Given the description of an element on the screen output the (x, y) to click on. 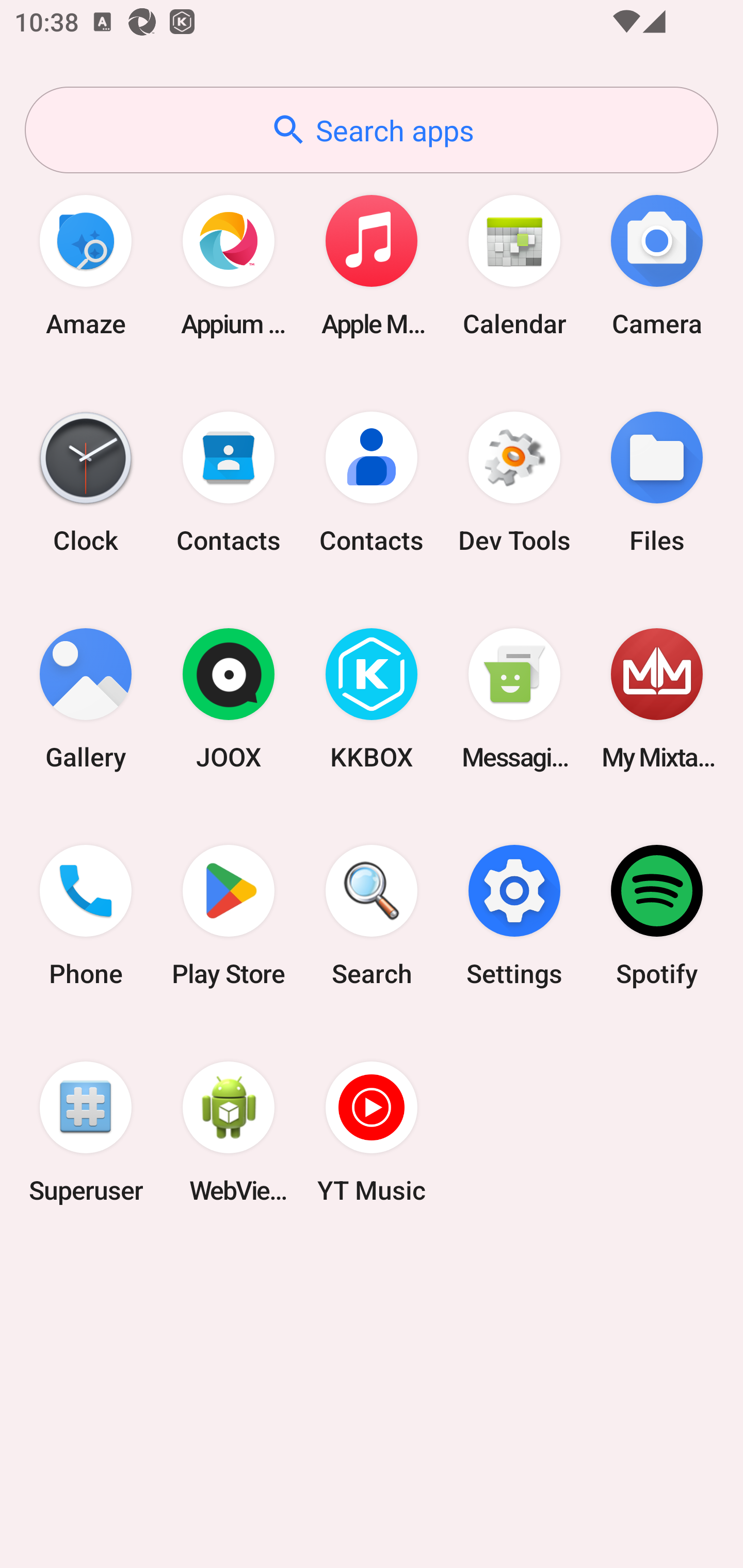
  Search apps (371, 130)
Amaze (85, 264)
Appium Settings (228, 264)
Apple Music (371, 264)
Calendar (514, 264)
Camera (656, 264)
Clock (85, 482)
Contacts (228, 482)
Contacts (371, 482)
Dev Tools (514, 482)
Files (656, 482)
Gallery (85, 699)
JOOX (228, 699)
KKBOX (371, 699)
Messaging (514, 699)
My Mixtapez (656, 699)
Phone (85, 915)
Play Store (228, 915)
Search (371, 915)
Settings (514, 915)
Spotify (656, 915)
Superuser (85, 1131)
WebView Browser Tester (228, 1131)
YT Music (371, 1131)
